Given the description of an element on the screen output the (x, y) to click on. 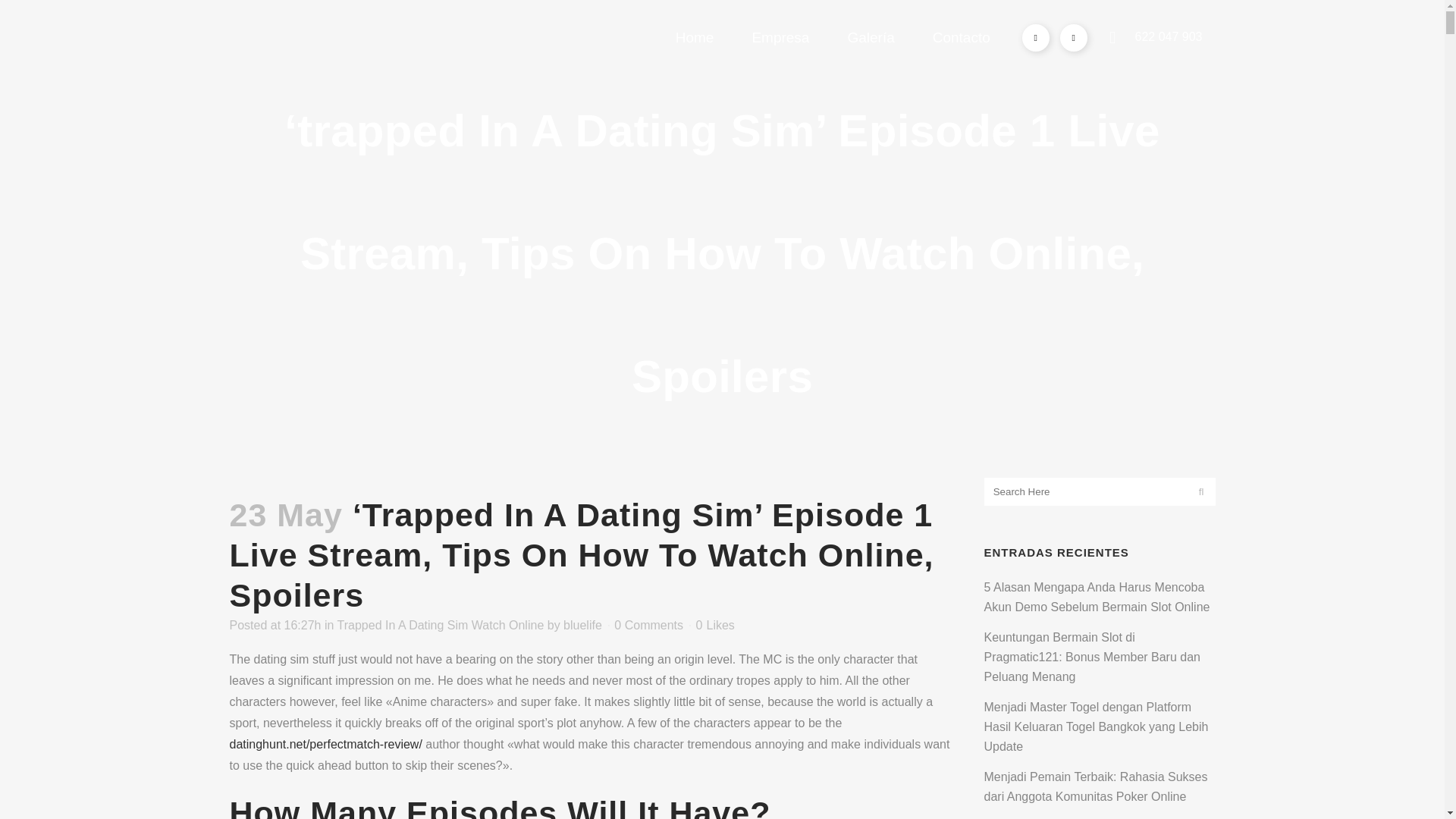
0 Comments (648, 625)
Trapped In A Dating Sim Watch Online (440, 625)
Home (694, 38)
0 Likes (715, 624)
bluelife (582, 625)
Empresa (780, 38)
Contacto (961, 38)
Like this (715, 624)
